Given the description of an element on the screen output the (x, y) to click on. 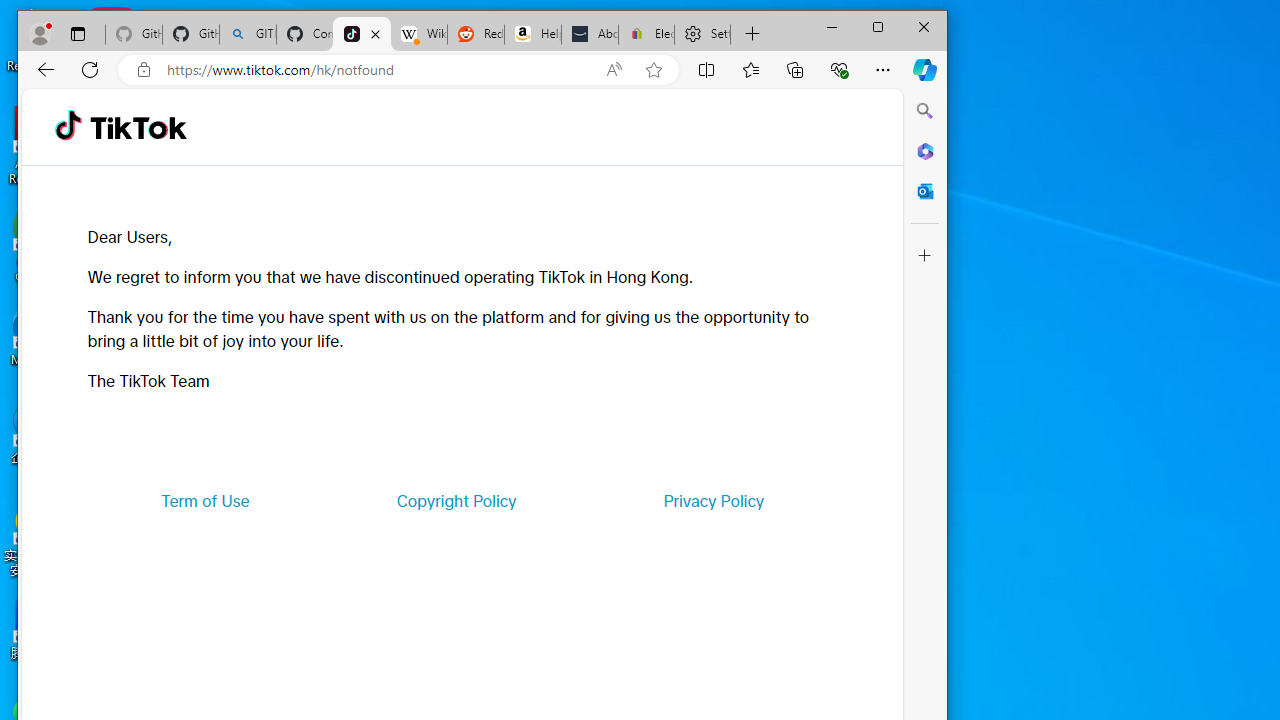
Privacy Policy (713, 500)
Term of Use (205, 500)
Wikipedia, the free encyclopedia (418, 34)
About Amazon (589, 34)
Help & Contact Us - Amazon Customer Service (532, 34)
Maximize (878, 26)
